Given the description of an element on the screen output the (x, y) to click on. 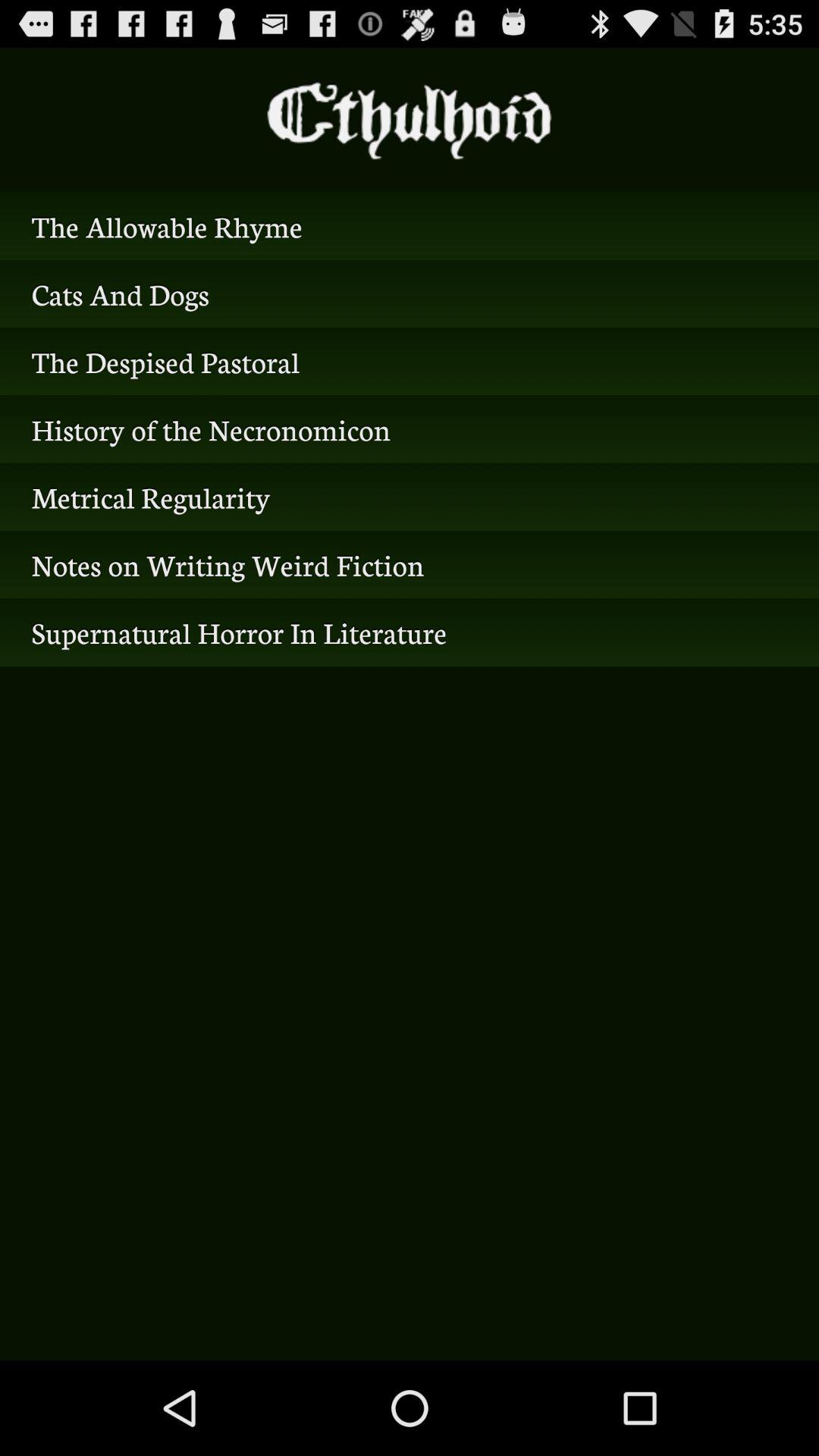
click item above the supernatural horror in item (409, 564)
